Given the description of an element on the screen output the (x, y) to click on. 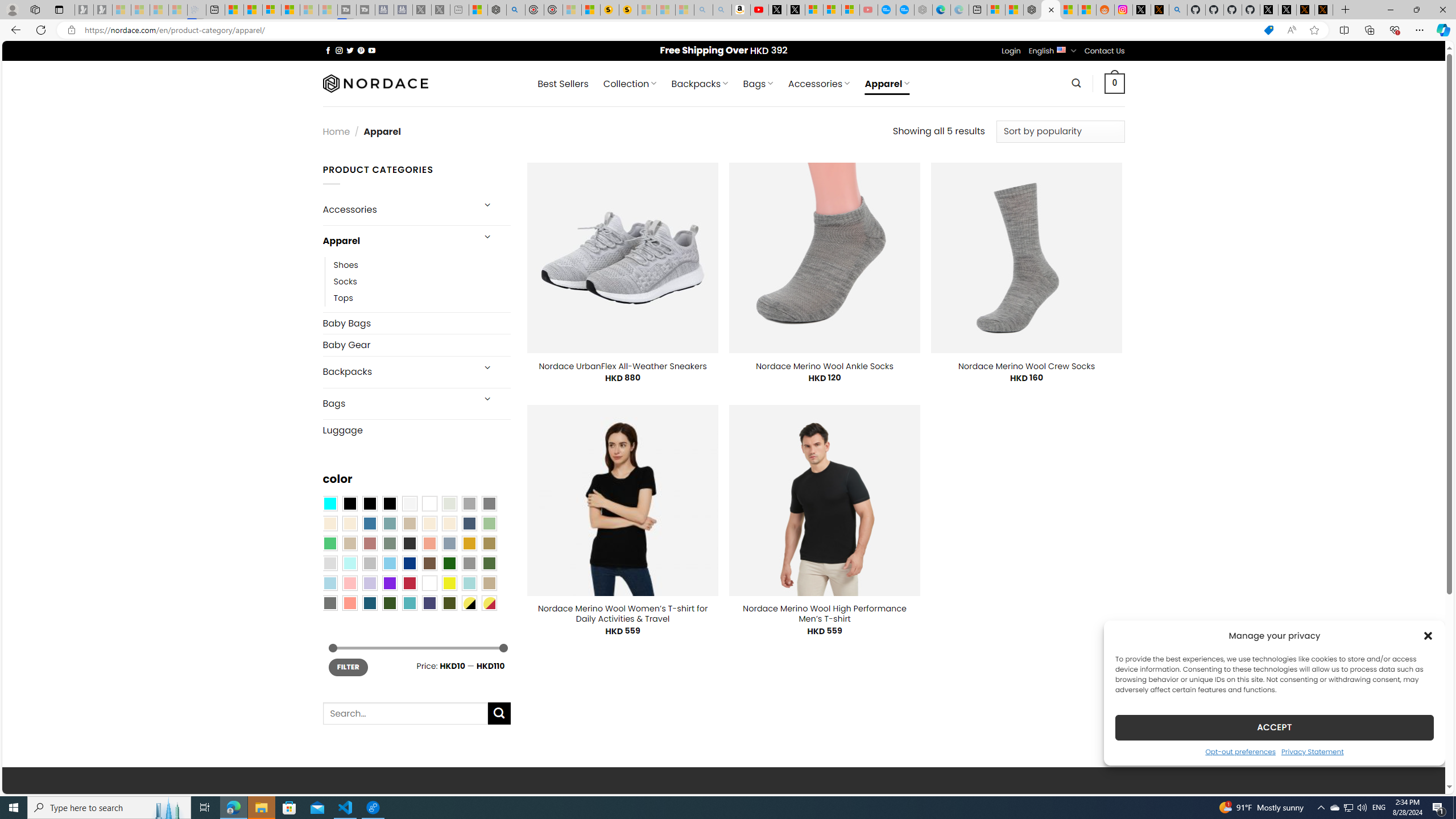
Capri Blue (369, 602)
Day 1: Arriving in Yemen (surreal to be here) - YouTube (759, 9)
Green (488, 562)
Army Green (449, 602)
Profile / X (1268, 9)
  Best Sellers (562, 83)
Sage (389, 542)
Clear (429, 503)
White (429, 582)
